Given the description of an element on the screen output the (x, y) to click on. 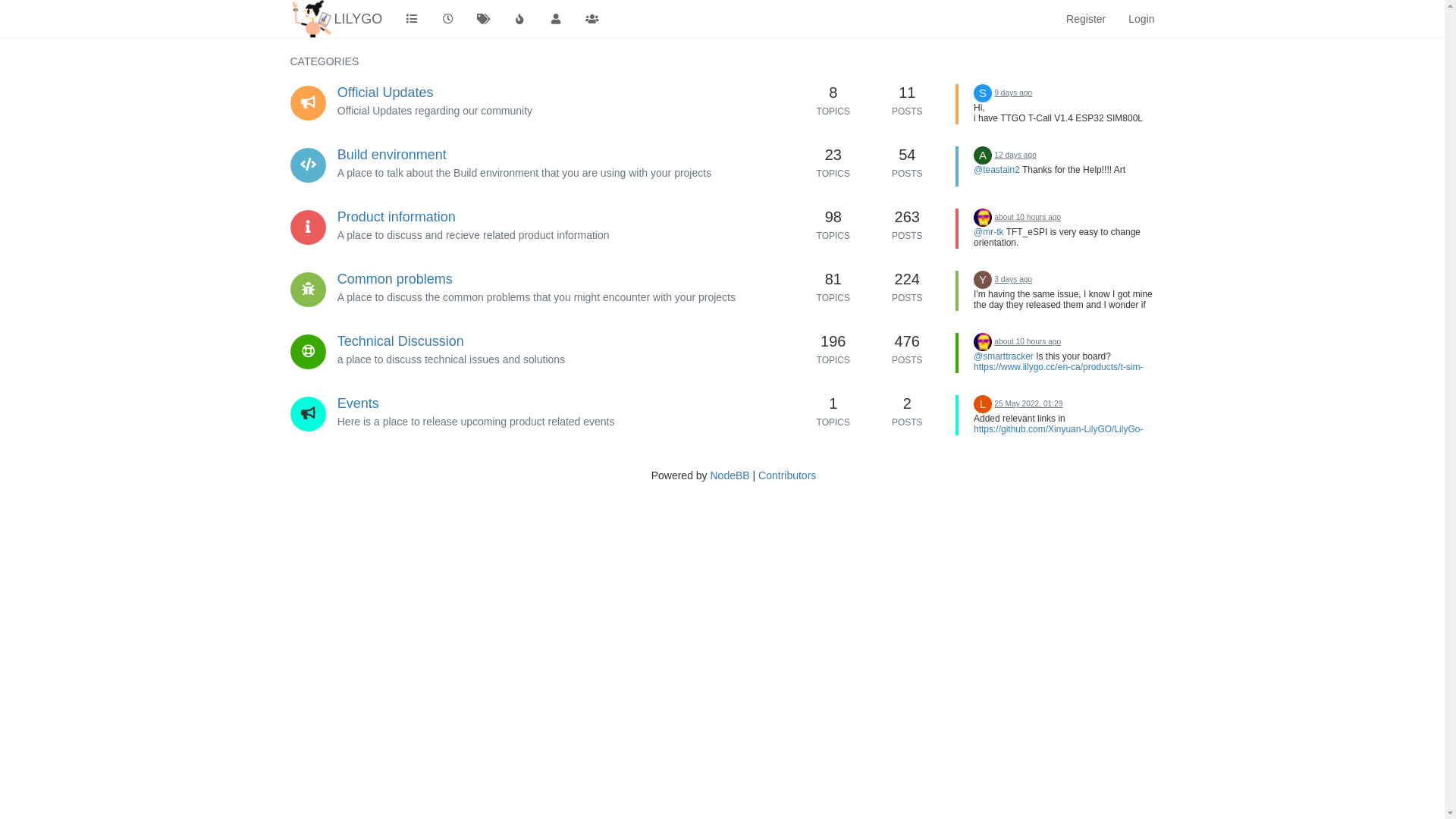
S Element type: text (982, 92)
25 May 2022, 01:29 Element type: text (1028, 403)
3 days ago Element type: text (1013, 278)
about 10 hours ago Element type: text (1027, 216)
Contributors Element type: text (786, 475)
9 days ago Element type: text (1013, 92)
Events Element type: text (358, 403)
NodeBB Element type: text (729, 475)
12 days ago Element type: text (1015, 154)
about 10 hours ago Element type: text (1027, 340)
Technical Discussion Element type: text (400, 340)
Register Element type: text (1085, 18)
Login Element type: text (1141, 18)
@teastain2 Element type: text (996, 169)
L Element type: text (982, 403)
Product information Element type: text (396, 216)
Official Updates Element type: text (385, 92)
@mr-tk Element type: text (988, 231)
Y Element type: text (982, 278)
@smarttracker Element type: text (1003, 356)
https://github.com/Xinyuan-LilyGO/LilyGo-EPD47 Element type: text (1057, 434)
Build environment Element type: text (391, 154)
Common problems Element type: text (394, 278)
A Element type: text (982, 154)
